Given the description of an element on the screen output the (x, y) to click on. 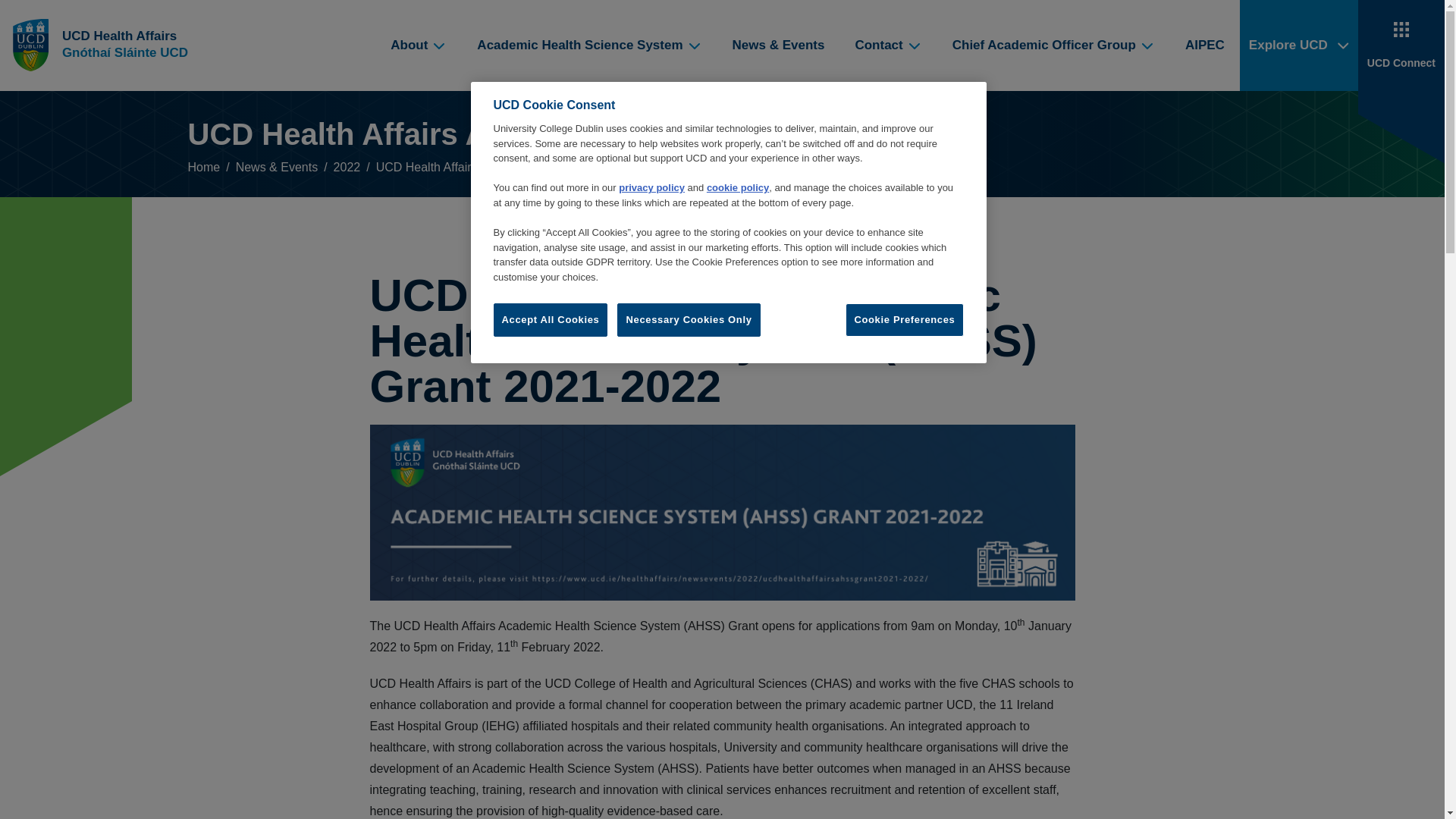
Go to 'Explore' page (1299, 45)
Contact (888, 45)
Academic Health Science System (588, 45)
Go to 'Home' page (105, 45)
Chief Academic Officer Group (1053, 45)
About (418, 45)
Explore UCD (1299, 45)
